Given the description of an element on the screen output the (x, y) to click on. 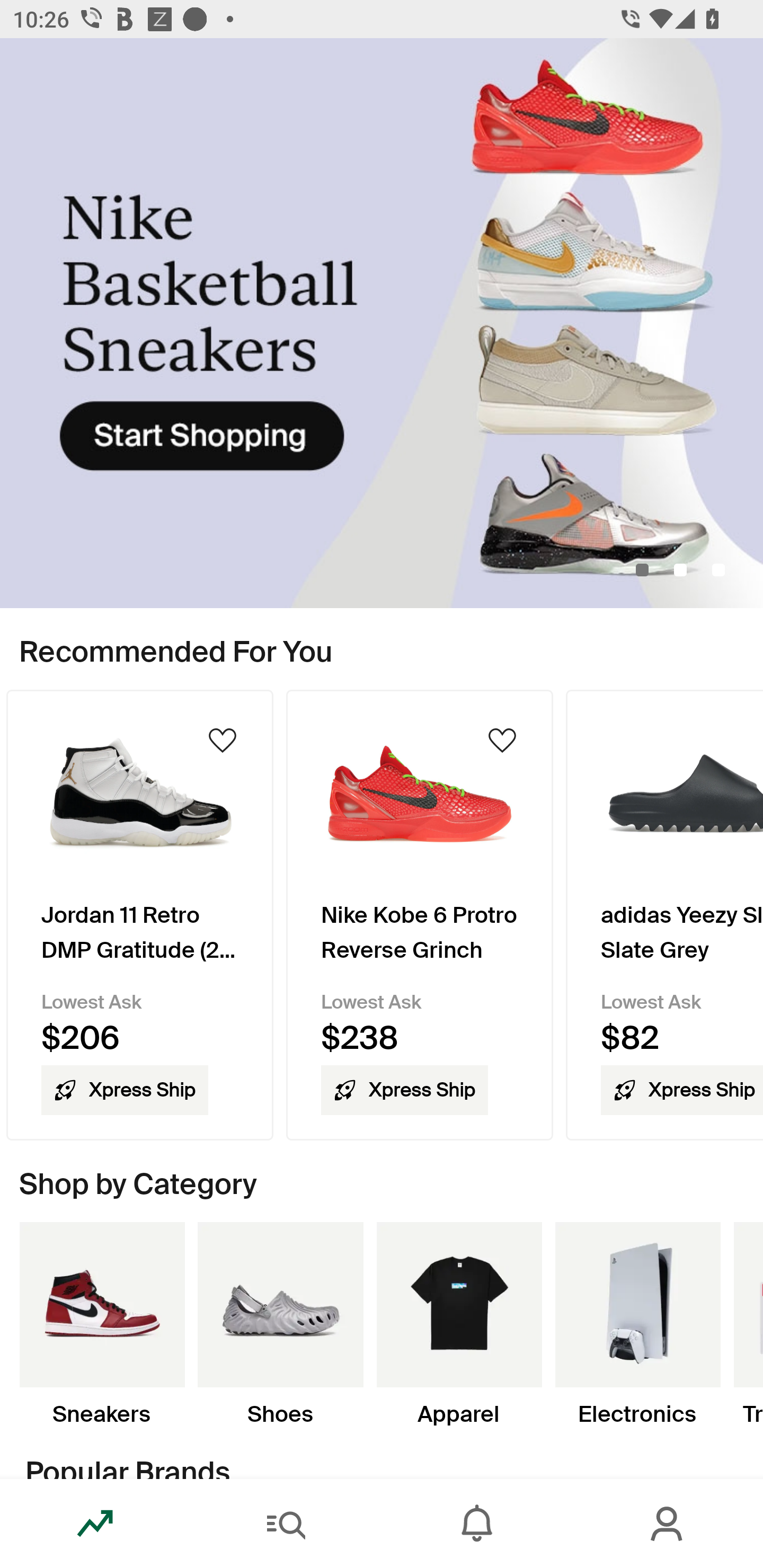
NikeBasketballSprint_Followup_Primary_Mobile.jpg (381, 322)
Product Image Sneakers (101, 1324)
Product Image Shoes (280, 1324)
Product Image Apparel (458, 1324)
Product Image Electronics (637, 1324)
Search (285, 1523)
Inbox (476, 1523)
Account (667, 1523)
